Given the description of an element on the screen output the (x, y) to click on. 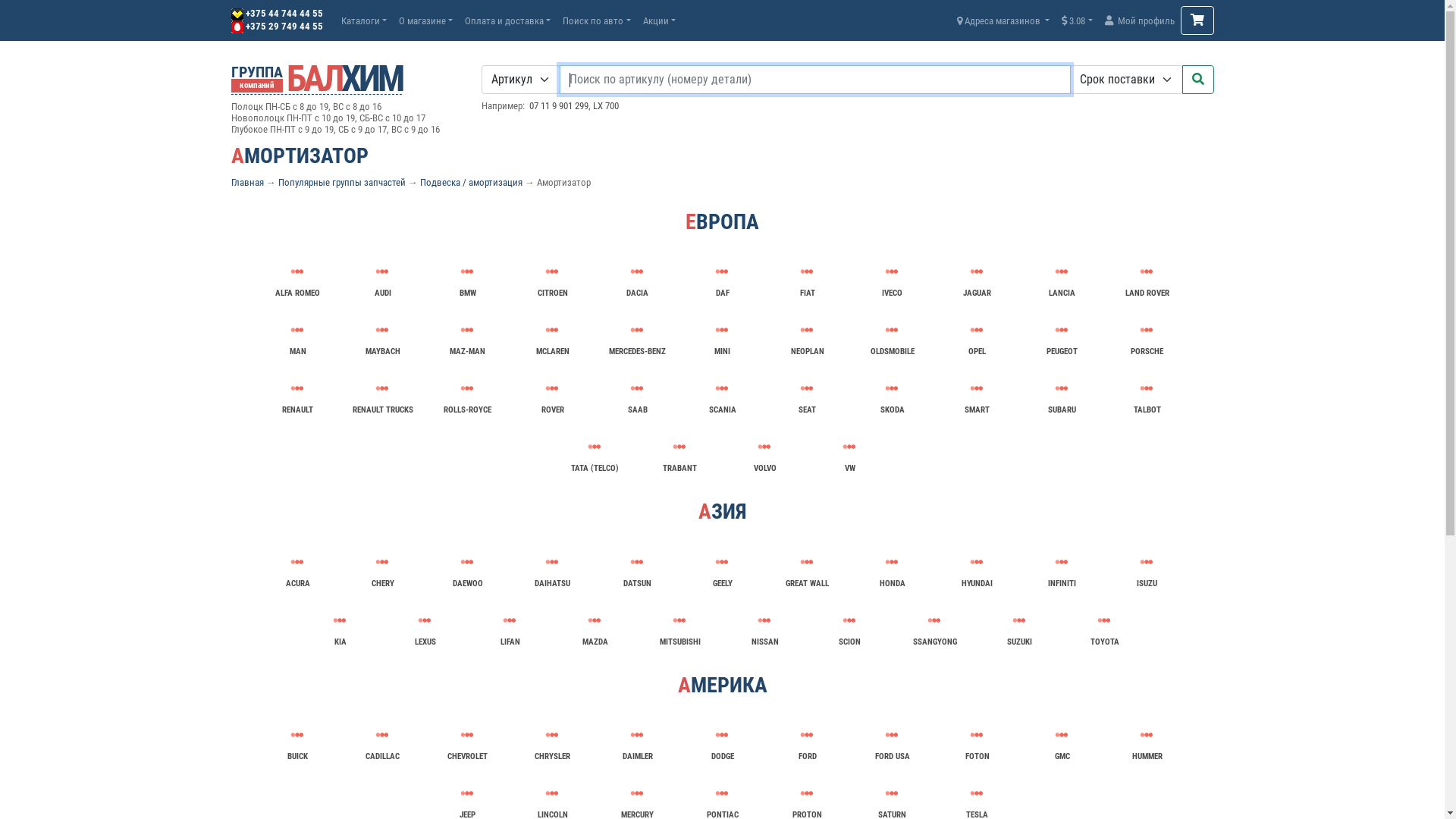
FIAT Element type: hover (806, 271)
LIFAN Element type: hover (509, 620)
PEUGEOT Element type: hover (1061, 329)
DAIMLER Element type: text (637, 740)
MCLAREN Element type: hover (551, 329)
MAZDA Element type: text (594, 625)
RENAULT Element type: text (297, 393)
AUDI Element type: hover (382, 271)
FORD USA Element type: hover (891, 734)
MERCEDES-BENZ Element type: text (637, 335)
MAN Element type: text (297, 335)
SCANIA Element type: text (722, 393)
OLDSMOBILE Element type: hover (891, 329)
HUMMER Element type: hover (1146, 734)
DODGE Element type: text (722, 740)
DAEWOO Element type: hover (466, 561)
KIA Element type: text (339, 625)
BMW Element type: hover (466, 271)
HONDA Element type: hover (891, 561)
LINCOLN Element type: hover (551, 793)
TATA (TELCO) Element type: hover (594, 446)
HONDA Element type: text (891, 567)
SMART Element type: hover (976, 388)
DAF Element type: hover (721, 271)
MINI Element type: text (722, 335)
DACIA Element type: hover (636, 271)
3.08 Element type: text (1076, 20)
PONTIAC Element type: hover (721, 793)
LEXUS Element type: text (424, 625)
VW Element type: text (849, 452)
SATURN Element type: hover (891, 793)
MERCURY Element type: hover (636, 793)
NEOPLAN Element type: hover (806, 329)
FORD Element type: text (807, 740)
TALBOT Element type: hover (1146, 388)
LAND ROVER Element type: text (1146, 277)
ROLLS-ROYCE Element type: text (467, 393)
ROLLS-ROYCE Element type: hover (466, 388)
INFINITI Element type: text (1061, 567)
GMC Element type: hover (1061, 734)
PORSCHE Element type: text (1146, 335)
ALFA ROMEO Element type: hover (297, 271)
SAAB Element type: text (637, 393)
MAZ-MAN Element type: hover (466, 329)
DAF Element type: text (722, 277)
LANCIA Element type: hover (1061, 271)
SMART Element type: text (976, 393)
SUBARU Element type: hover (1061, 388)
TRABANT Element type: hover (679, 446)
MAYBACH Element type: text (382, 335)
CADILLAC Element type: text (382, 740)
GREAT WALL Element type: text (807, 567)
SAAB Element type: hover (636, 388)
ACURA Element type: hover (297, 561)
FORD Element type: hover (806, 734)
DODGE Element type: hover (721, 734)
SCION Element type: hover (849, 620)
SUZUKI Element type: text (1019, 625)
DATSUN Element type: text (637, 567)
SSANGYONG Element type: hover (934, 620)
IVECO Element type: text (891, 277)
JAGUAR Element type: text (976, 277)
SSANGYONG Element type: text (934, 625)
CHRYSLER Element type: text (552, 740)
PORSCHE Element type: hover (1146, 329)
VOLVO Element type: text (764, 452)
LEXUS Element type: hover (424, 620)
MERCEDES-BENZ Element type: hover (636, 329)
HYUNDAI Element type: text (976, 567)
SEAT Element type: text (807, 393)
DAIHATSU Element type: hover (551, 561)
TOYOTA Element type: hover (1103, 620)
DAIMLER Element type: hover (636, 734)
ALFA ROMEO Element type: text (297, 277)
TESLA Element type: hover (976, 793)
MITSUBISHI Element type: hover (679, 620)
SKODA Element type: hover (891, 388)
MAZDA Element type: hover (594, 620)
MCLAREN Element type: text (552, 335)
CHERY Element type: hover (382, 561)
KIA Element type: hover (339, 620)
LAND ROVER Element type: hover (1146, 271)
TOYOTA Element type: text (1104, 625)
INFINITI Element type: hover (1061, 561)
NISSAN Element type: hover (764, 620)
CHEVROLET Element type: text (467, 740)
FIAT Element type: text (807, 277)
BMW Element type: text (467, 277)
OPEL Element type: text (976, 335)
BUICK Element type: hover (297, 734)
DACIA Element type: text (637, 277)
GREAT WALL Element type: hover (806, 561)
VOLVO Element type: hover (764, 446)
GMC Element type: text (1061, 740)
CITROEN Element type: text (552, 277)
GEELY Element type: hover (721, 561)
ISUZU Element type: hover (1146, 561)
CHERY Element type: text (382, 567)
FORD USA Element type: text (891, 740)
RENAULT TRUCKS Element type: text (382, 393)
CHRYSLER Element type: hover (551, 734)
CHEVROLET Element type: hover (466, 734)
SUZUKI Element type: hover (1019, 620)
NEOPLAN Element type: text (807, 335)
JAGUAR Element type: hover (976, 271)
HUMMER Element type: text (1146, 740)
BUICK Element type: text (297, 740)
ACURA Element type: text (297, 567)
CITROEN Element type: hover (551, 271)
SEAT Element type: hover (806, 388)
TALBOT Element type: text (1146, 393)
FOTON Element type: hover (976, 734)
ISUZU Element type: text (1146, 567)
AUDI Element type: text (382, 277)
LX 700 Element type: text (605, 105)
SKODA Element type: text (891, 393)
GEELY Element type: text (722, 567)
OPEL Element type: hover (976, 329)
SCION Element type: text (849, 625)
MAZ-MAN Element type: text (467, 335)
DATSUN Element type: hover (636, 561)
RENAULT Element type: hover (297, 388)
MAN Element type: hover (297, 329)
MITSUBISHI Element type: text (679, 625)
DAIHATSU Element type: text (552, 567)
PROTON Element type: hover (806, 793)
TATA (TELCO) Element type: text (594, 452)
07 11 9 901 299 Element type: text (558, 105)
LANCIA Element type: text (1061, 277)
ROVER Element type: hover (551, 388)
ROVER Element type: text (552, 393)
TRABANT Element type: text (679, 452)
VW Element type: hover (849, 446)
MAYBACH Element type: hover (382, 329)
JEEP Element type: hover (466, 793)
DAEWOO Element type: text (467, 567)
SCANIA Element type: hover (721, 388)
HYUNDAI Element type: hover (976, 561)
LIFAN Element type: text (509, 625)
CADILLAC Element type: hover (382, 734)
IVECO Element type: hover (891, 271)
PEUGEOT Element type: text (1061, 335)
SUBARU Element type: text (1061, 393)
NISSAN Element type: text (764, 625)
MINI Element type: hover (721, 329)
OLDSMOBILE Element type: text (891, 335)
RENAULT TRUCKS Element type: hover (382, 388)
FOTON Element type: text (976, 740)
